Given the description of an element on the screen output the (x, y) to click on. 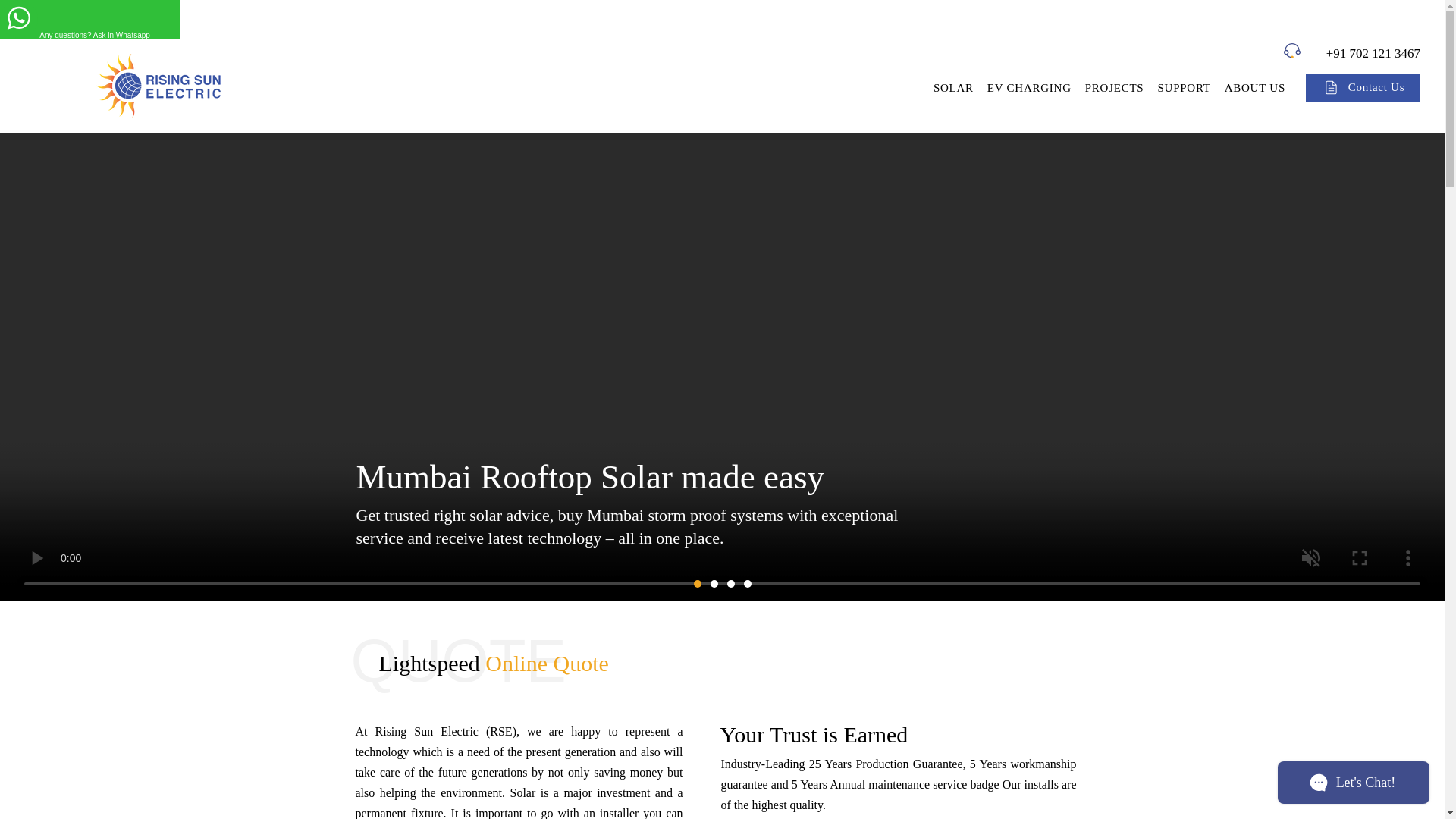
PROJECTS (1114, 88)
EV CHARGING (1028, 88)
Contact Us (1363, 87)
